Given the description of an element on the screen output the (x, y) to click on. 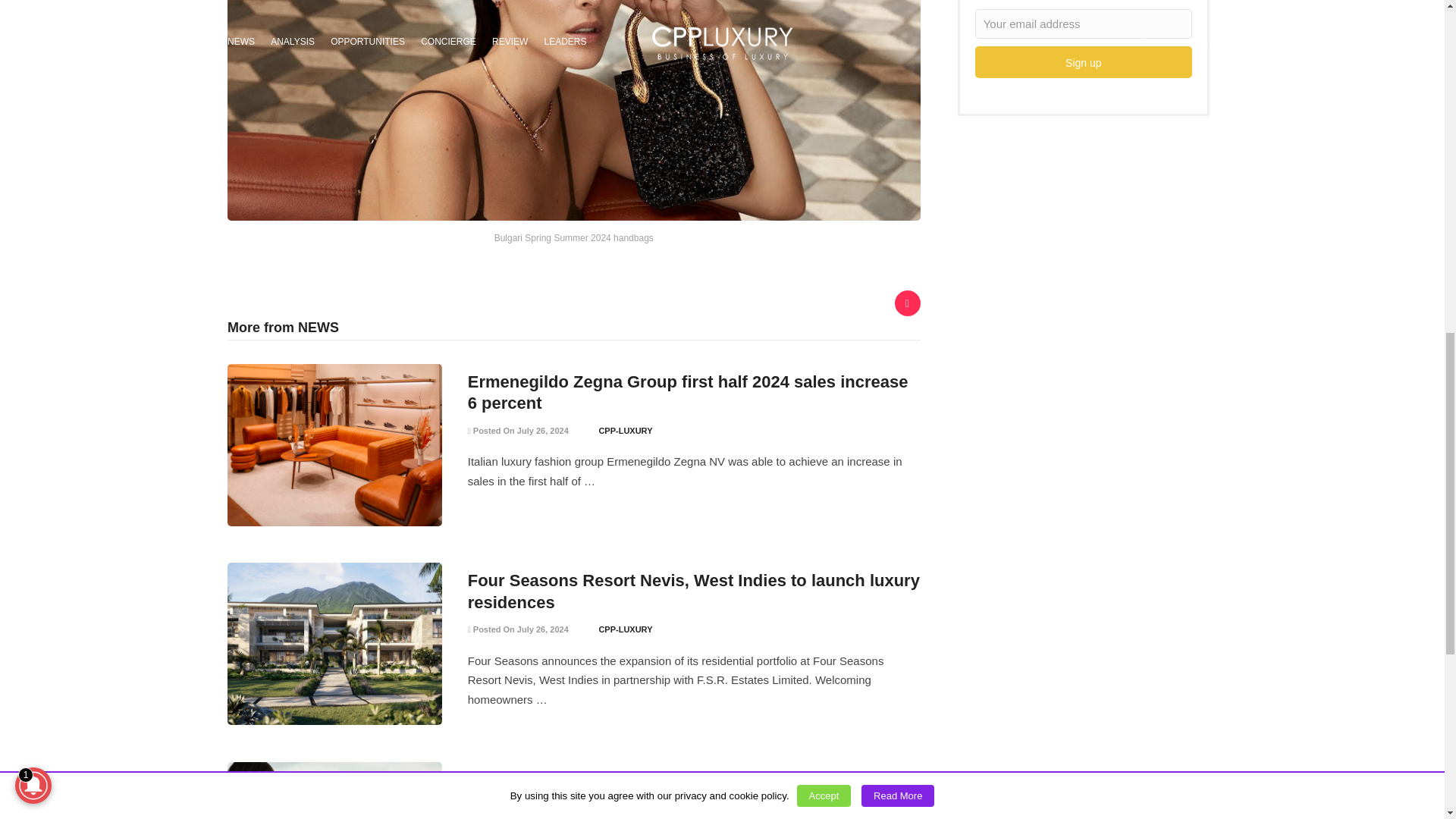
Moncler first half 2024 revenues up 11 percent (650, 779)
Posted On July 26, 2024 (518, 429)
CPP-LUXURY (625, 429)
Sign up (1083, 61)
